Given the description of an element on the screen output the (x, y) to click on. 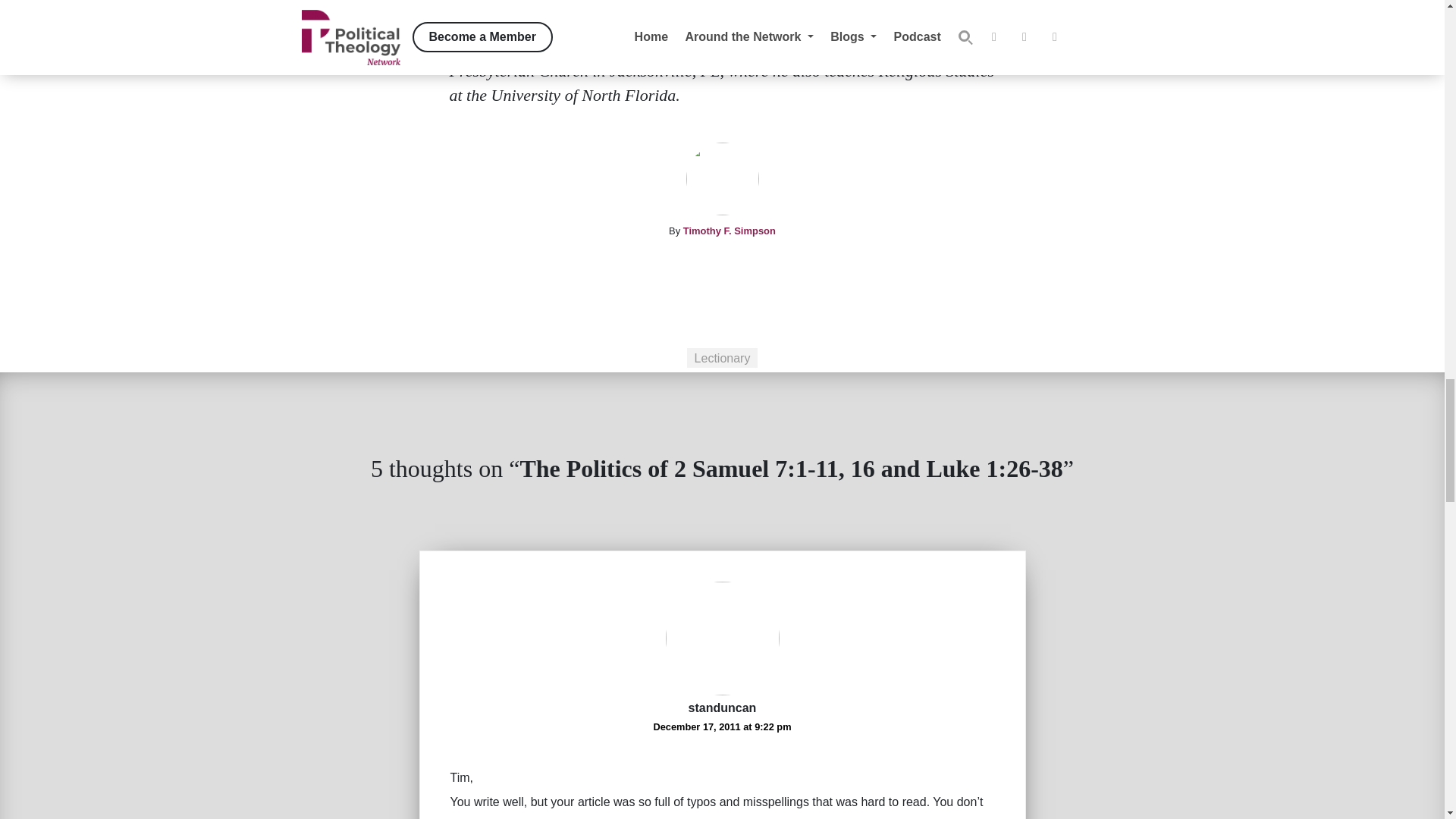
Lectionary (722, 357)
Presbyterian Peace Fellowship (579, 46)
View all posts in Lectionary (722, 357)
Timothy F. Simpson (729, 230)
December 17, 2011 at 9:22 pm (721, 726)
